Given the description of an element on the screen output the (x, y) to click on. 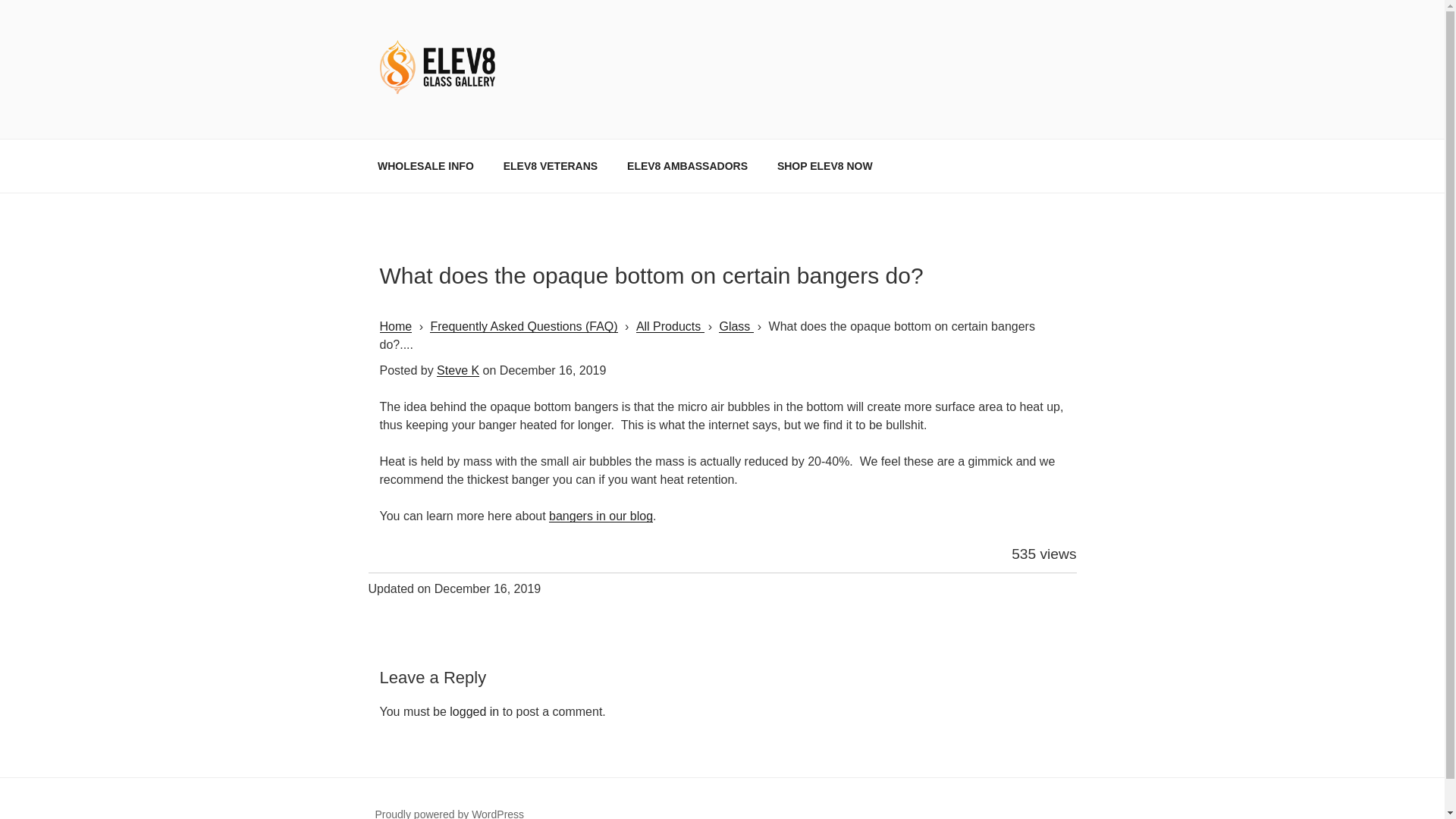
SHOP ELEV8 NOW (823, 165)
Steve K (457, 369)
Home (395, 326)
All Products (670, 326)
logged in (474, 711)
ELEV8ING SINCE 2004 (546, 119)
WHOLESALE INFO (425, 165)
Glass (735, 326)
Proudly powered by WordPress (449, 813)
ELEV8 AMBASSADORS (687, 165)
bangers in our blog (600, 515)
ELEV8 VETERANS (549, 165)
